Given the description of an element on the screen output the (x, y) to click on. 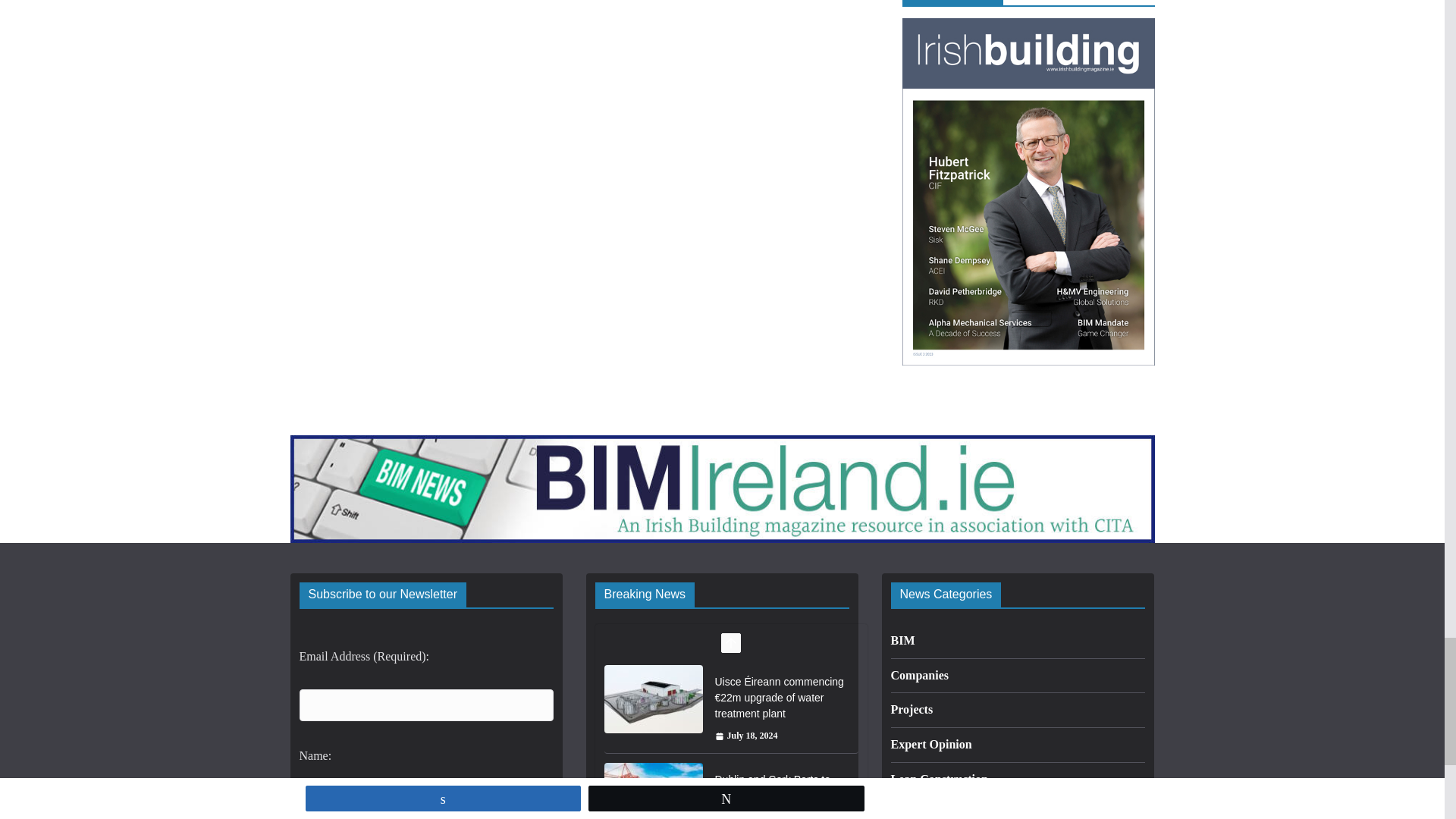
7:34 am (745, 736)
